Given the description of an element on the screen output the (x, y) to click on. 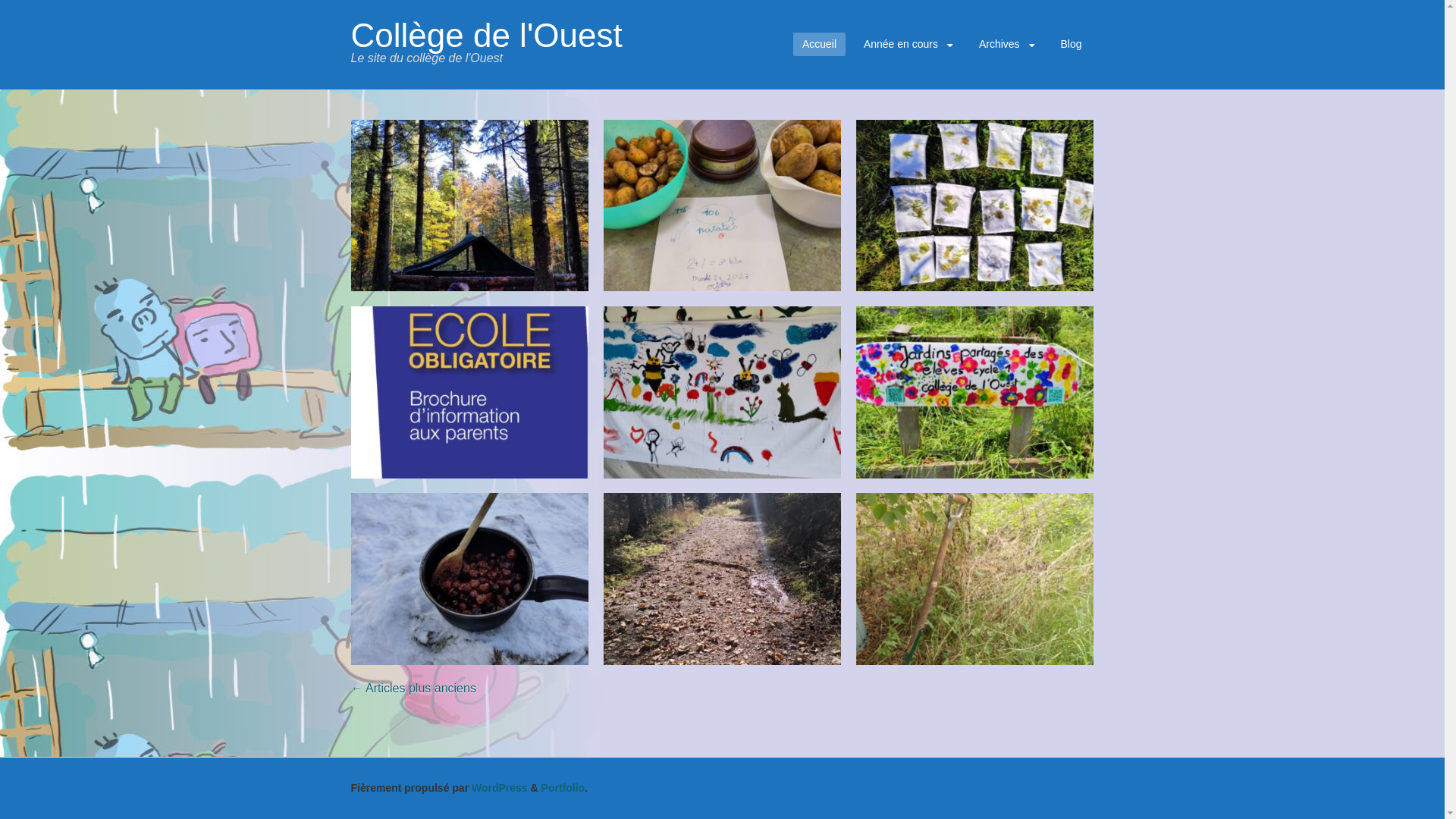
Archives Element type: text (1005, 44)
Aller au contenu principal Element type: text (802, 36)
Blog Element type: text (1070, 44)
WordPress Element type: text (499, 787)
Accueil Element type: text (819, 44)
Portfolio Element type: text (563, 787)
